Given the description of an element on the screen output the (x, y) to click on. 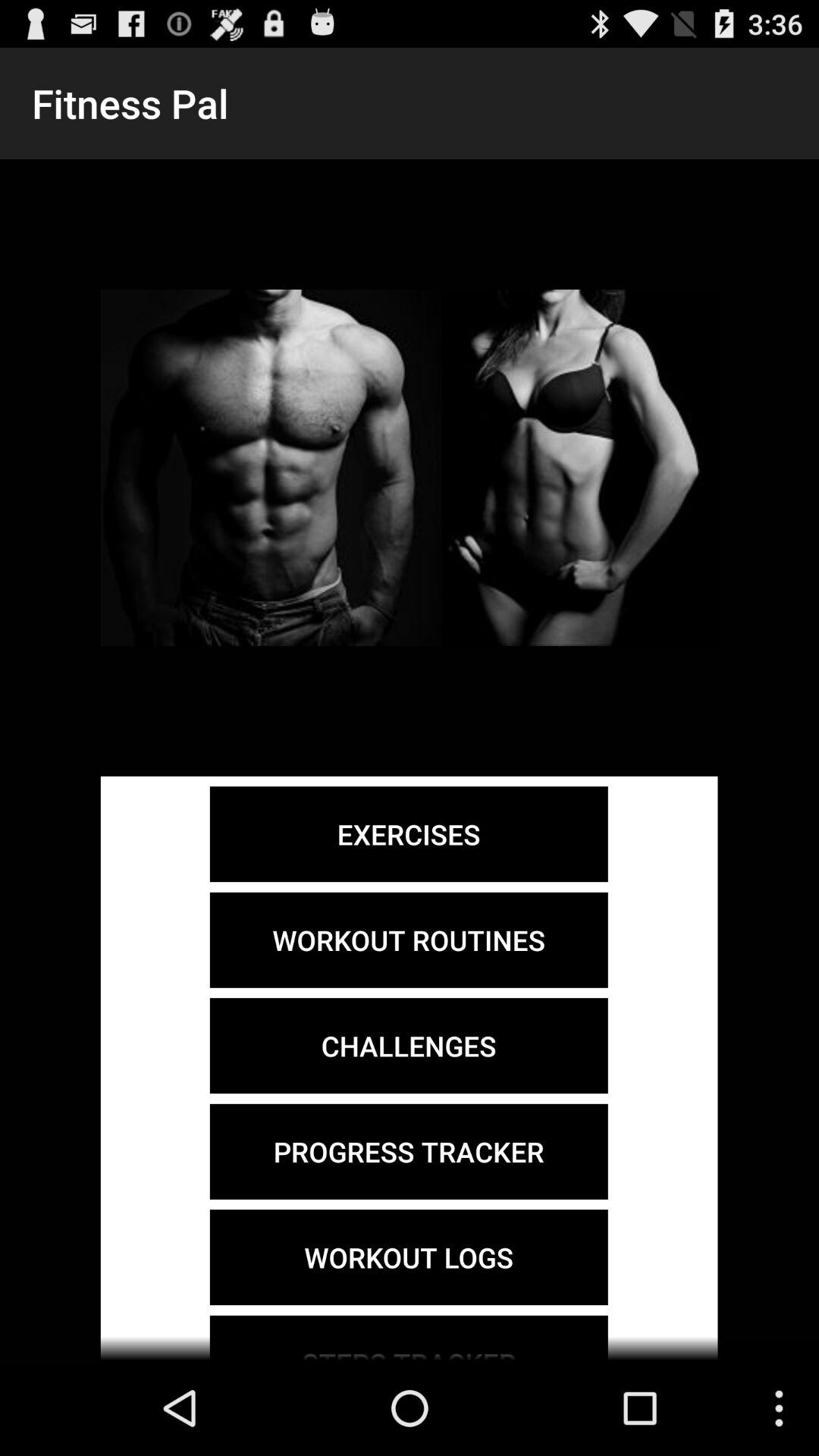
swipe until exercises (408, 834)
